Given the description of an element on the screen output the (x, y) to click on. 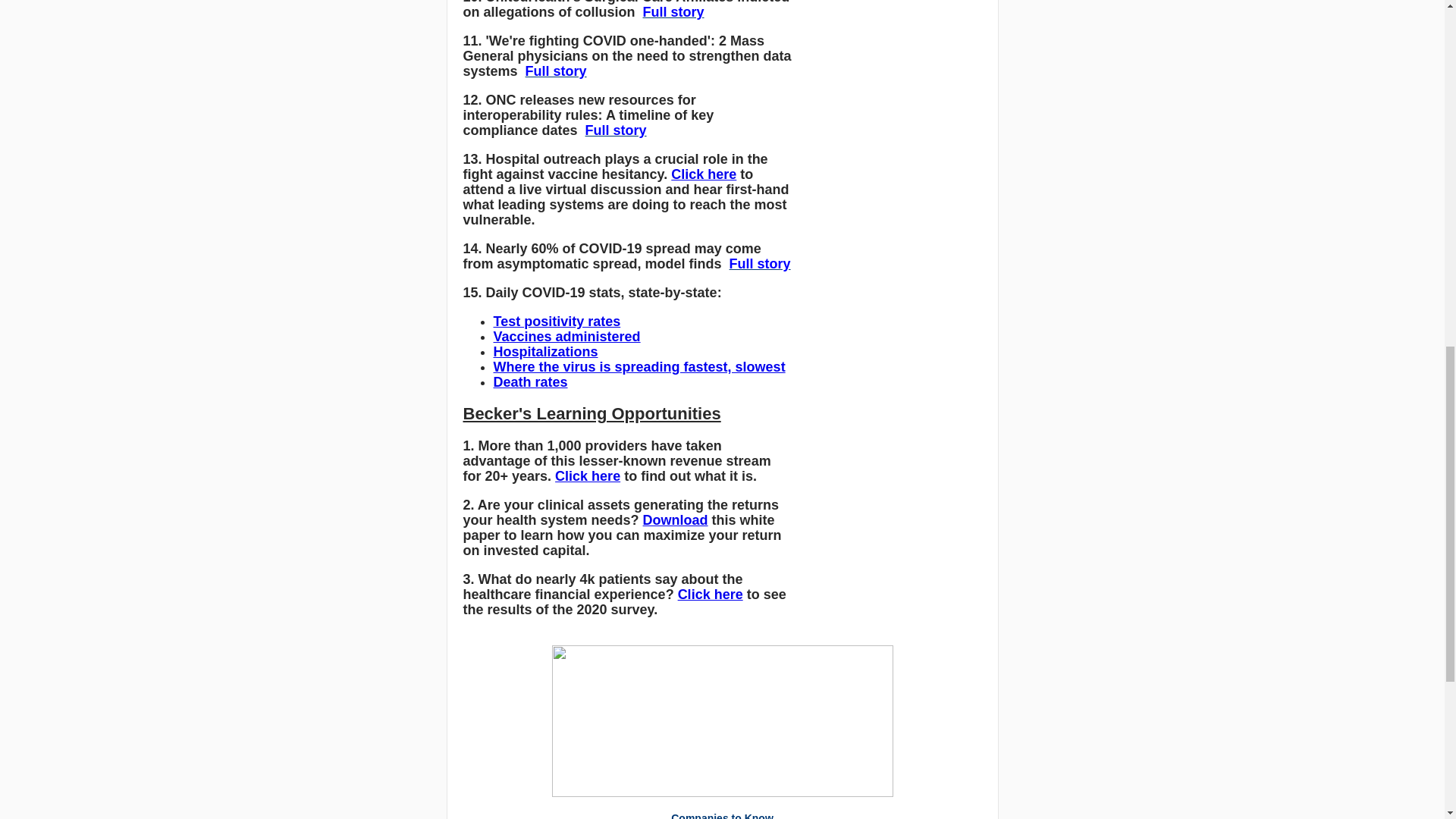
Click here (587, 476)
Full story (673, 11)
Full story (615, 130)
Where the virus is spreading fastest, slowest (638, 366)
Death rates (530, 381)
Download (675, 519)
Full story (759, 263)
Click here (710, 594)
Hospitalizations (544, 351)
Test positivity rates (556, 321)
